Given the description of an element on the screen output the (x, y) to click on. 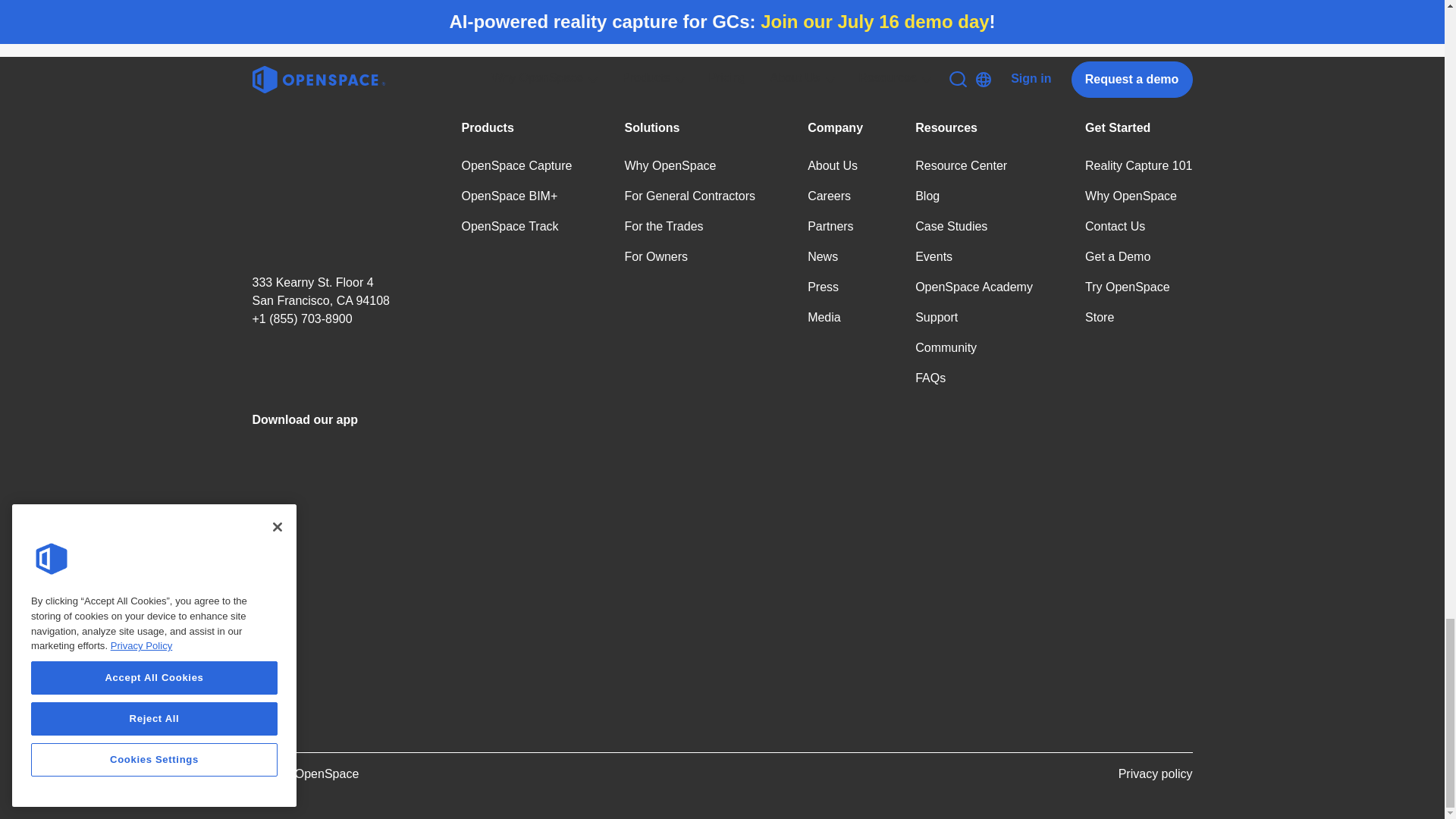
Download App from Google Play Store (328, 641)
Download App from Apple Store (328, 506)
OpenSpace (328, 183)
Openspace Privacy Policy page (1155, 777)
Watch us on YouTube (298, 371)
